Given the description of an element on the screen output the (x, y) to click on. 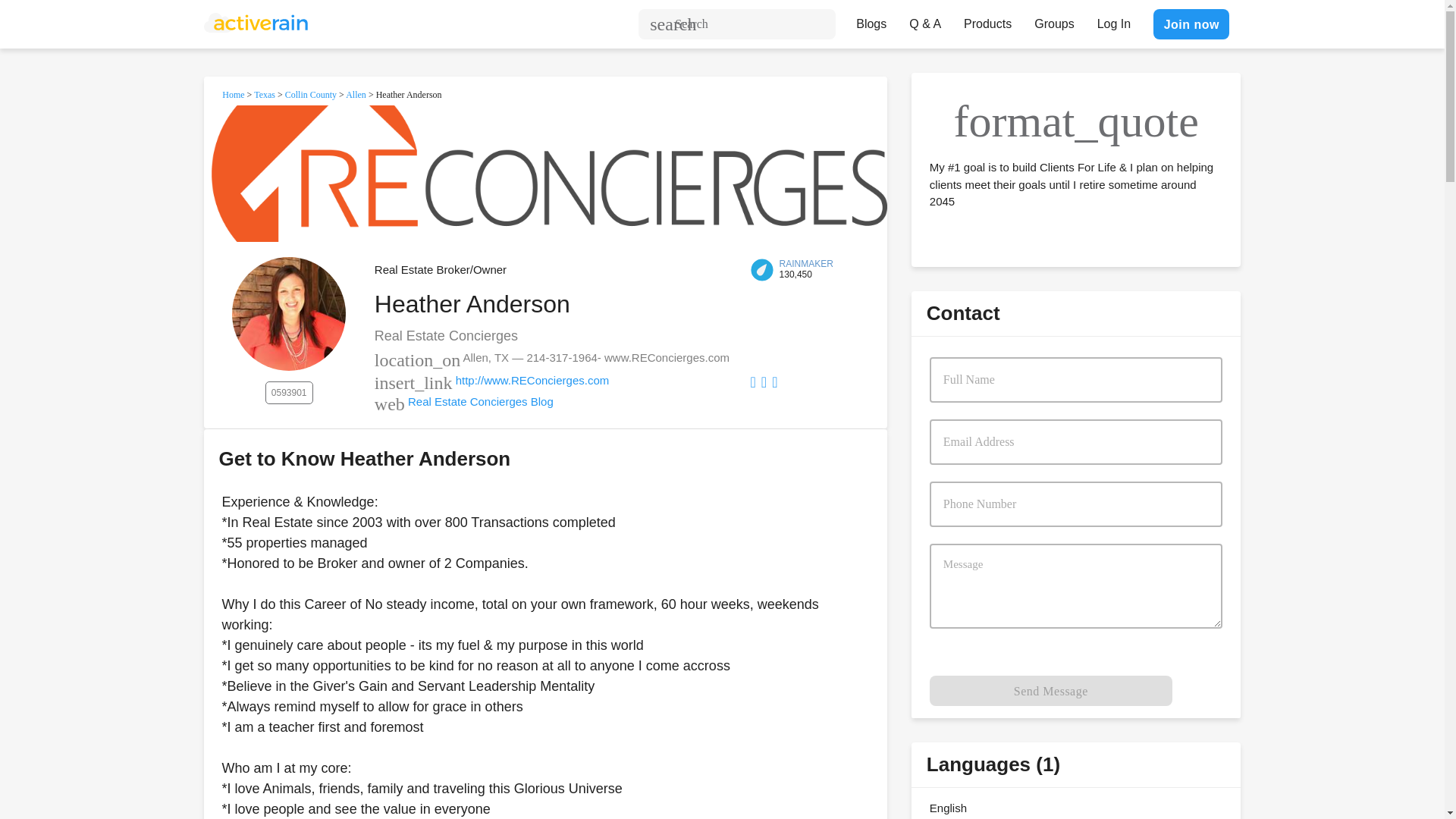
Blogs (870, 19)
Log In (1113, 19)
Join now (1190, 24)
web Real Estate Concierges Blog (463, 400)
Send Message (1051, 690)
Texas (264, 94)
Products (986, 19)
Allen (356, 94)
Collin County (310, 94)
Groups (1053, 19)
